Given the description of an element on the screen output the (x, y) to click on. 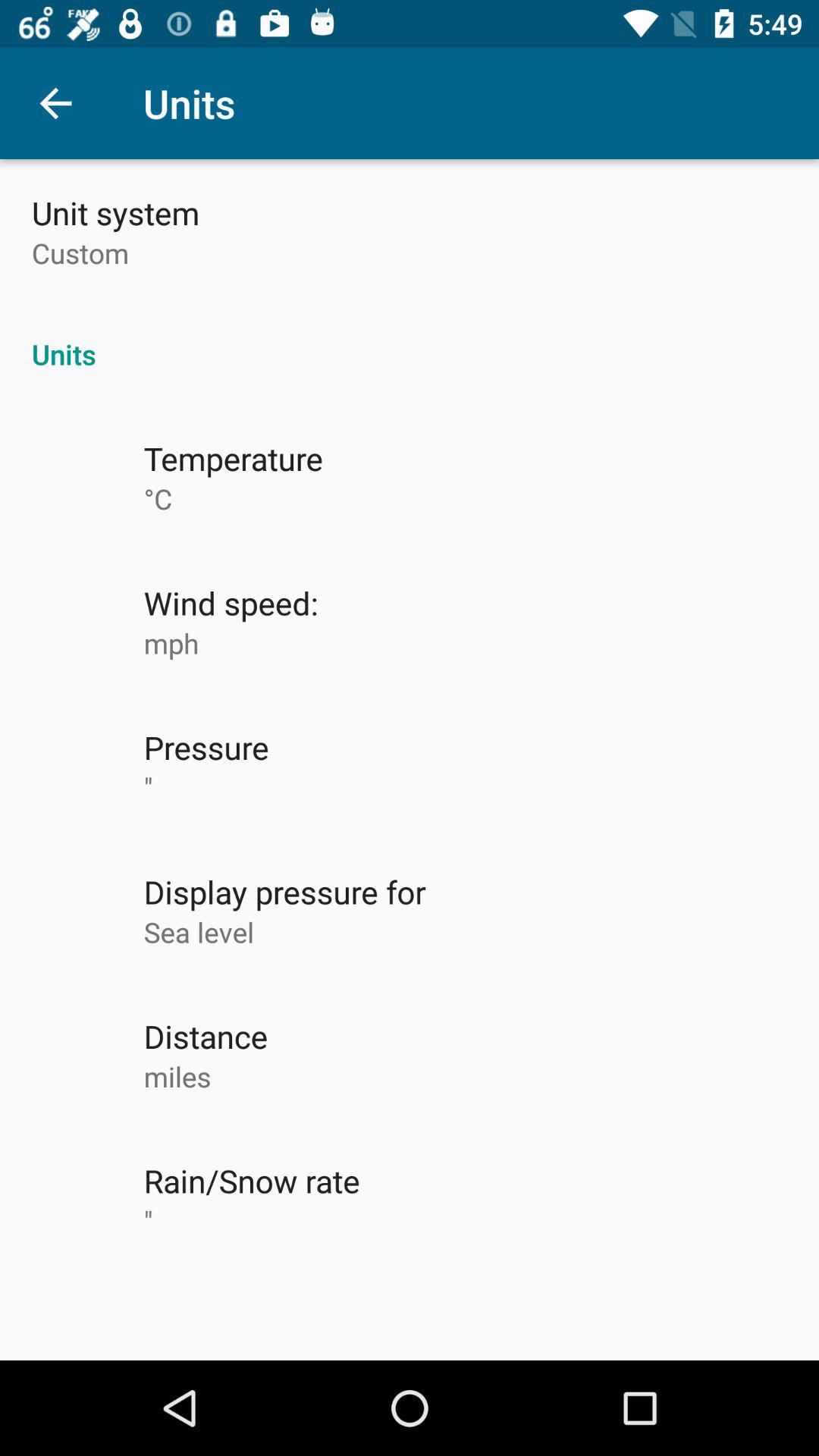
turn off icon to the left of the units item (55, 103)
